Given the description of an element on the screen output the (x, y) to click on. 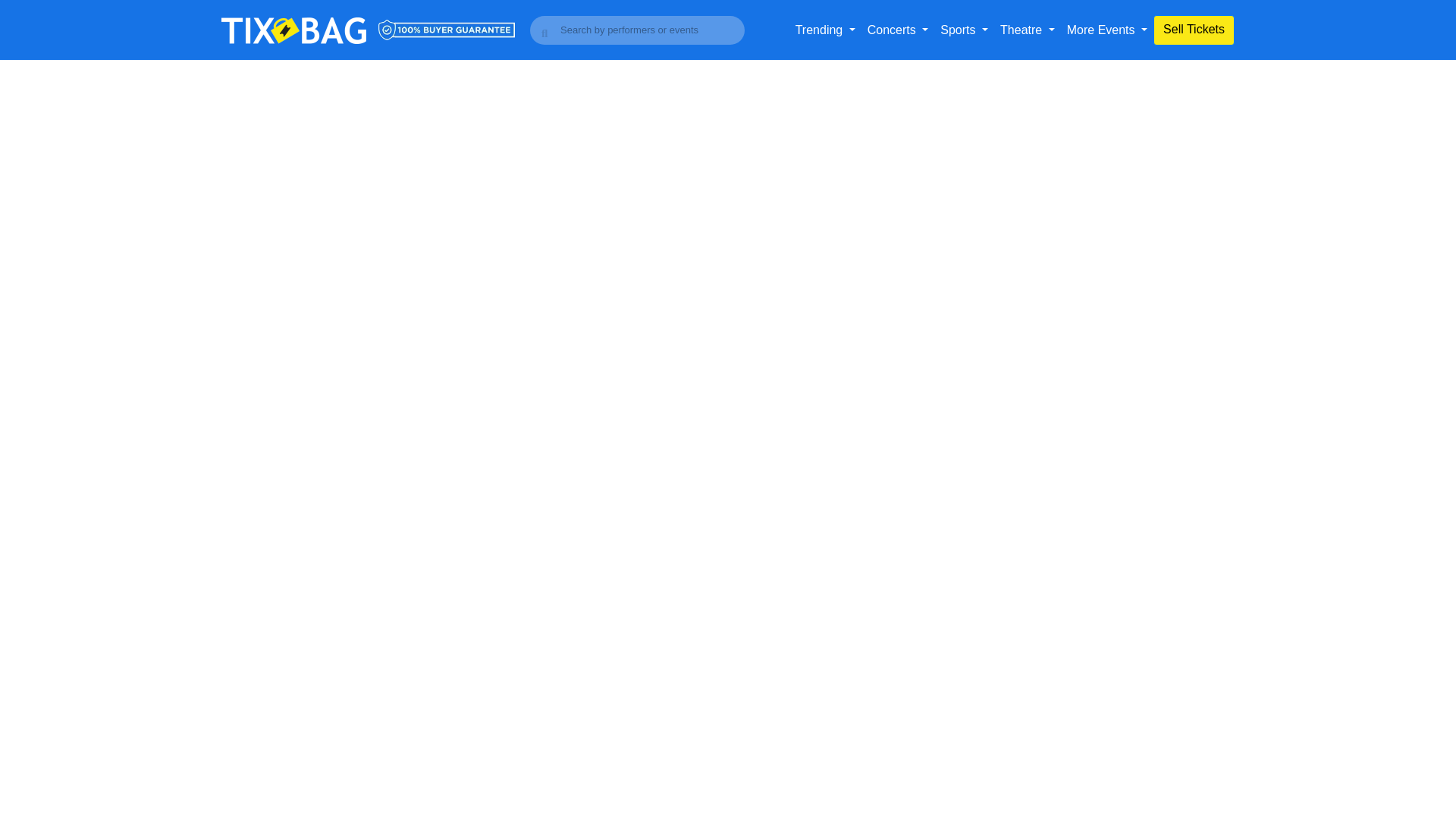
Buyer Guarantee (446, 29)
Trending (825, 30)
Best Way To Sell Tickets Online For Free (1193, 30)
Concerts (897, 30)
